Given the description of an element on the screen output the (x, y) to click on. 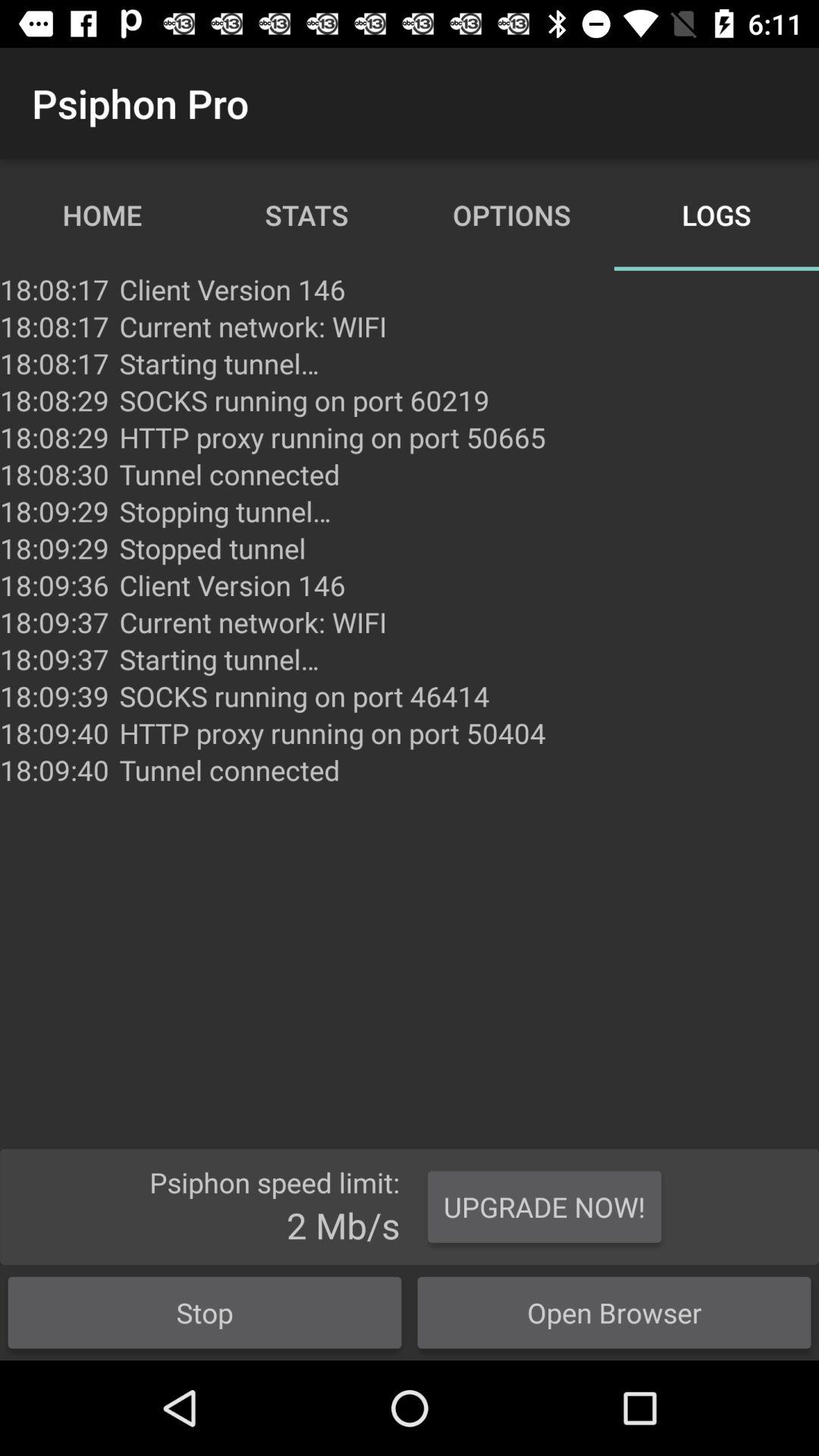
choose icon above the stopped tunnel (225, 511)
